Given the description of an element on the screen output the (x, y) to click on. 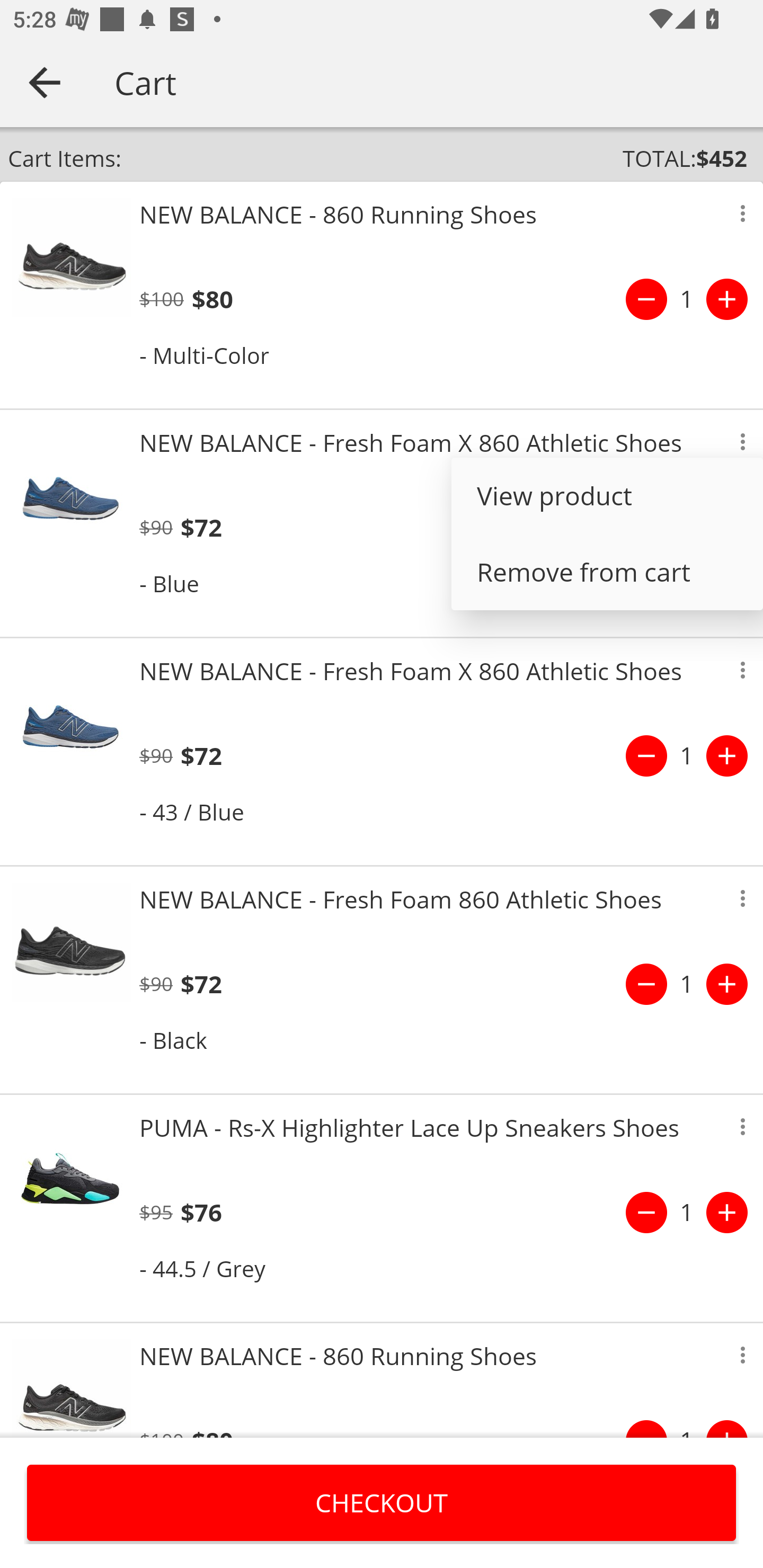
View product (607, 495)
Remove from cart (607, 571)
